Given the description of an element on the screen output the (x, y) to click on. 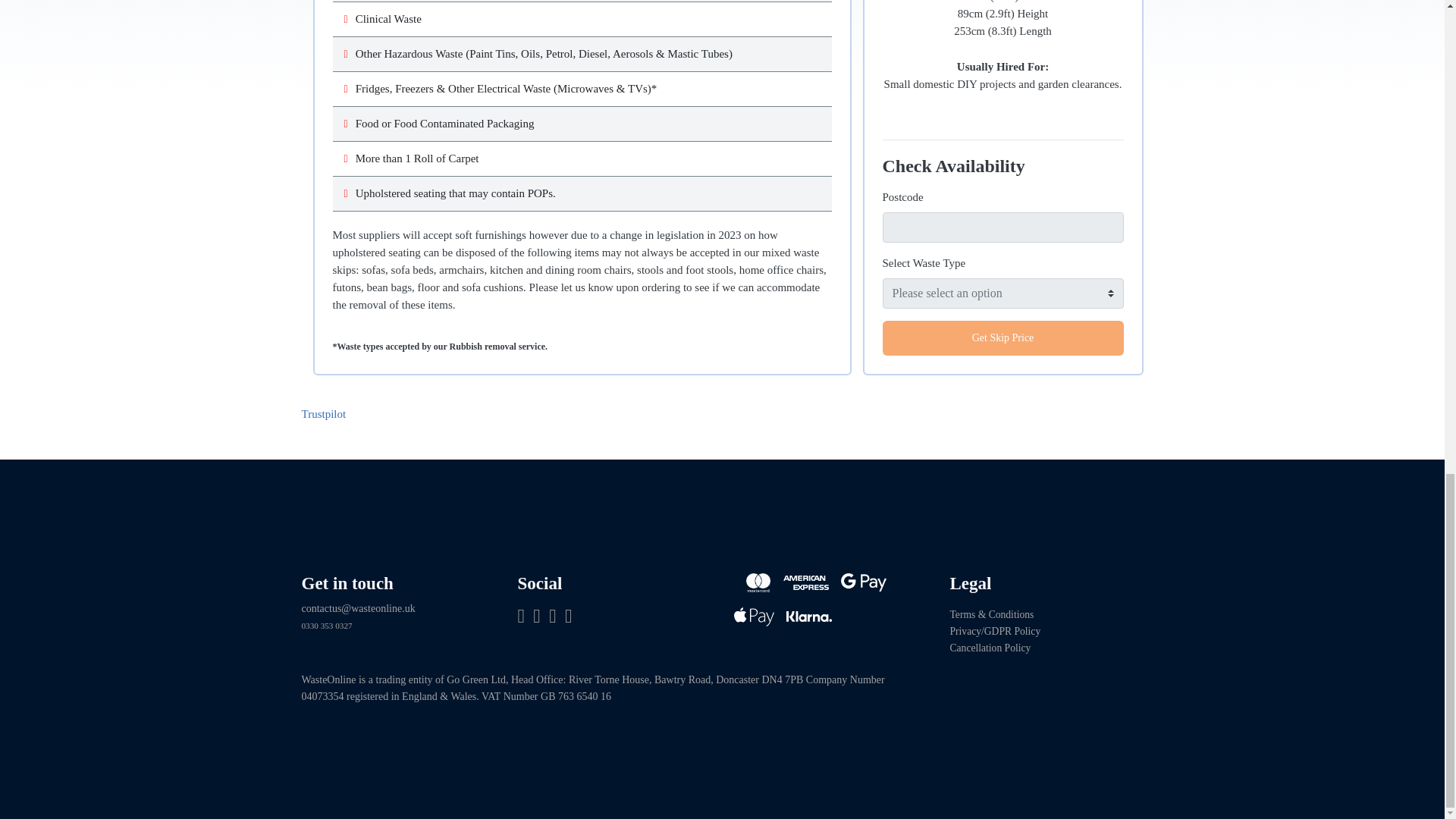
0330 353 0327 (326, 624)
Trustpilot (323, 413)
